Given the description of an element on the screen output the (x, y) to click on. 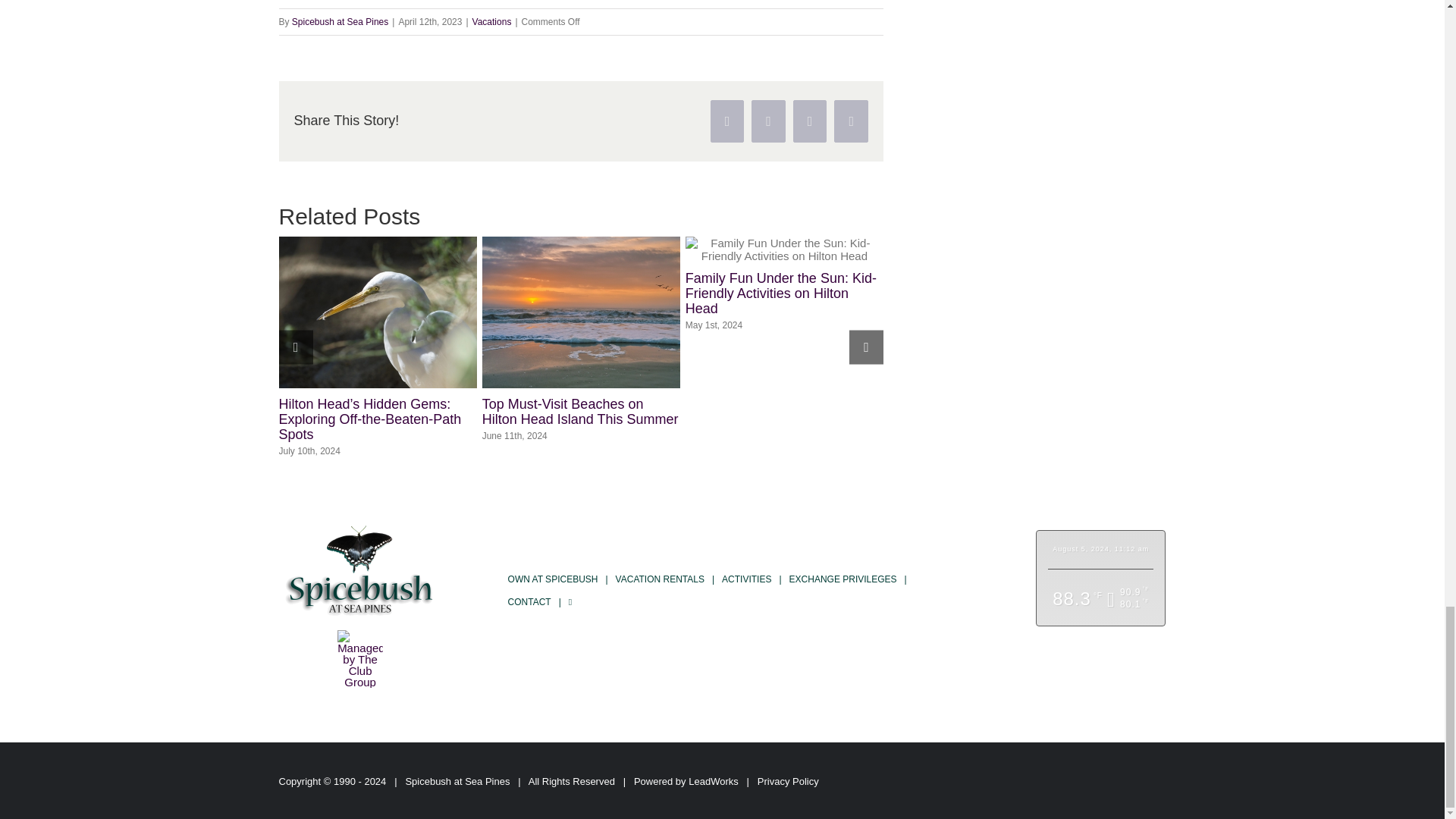
Top Must-Visit Beaches on Hilton Head Island This Summer (579, 411)
Vacations (491, 21)
Posts by Spicebush at Sea Pines (340, 21)
Spicebush at Sea Pines (340, 21)
Spicebush LOGO PNG (359, 570)
